Given the description of an element on the screen output the (x, y) to click on. 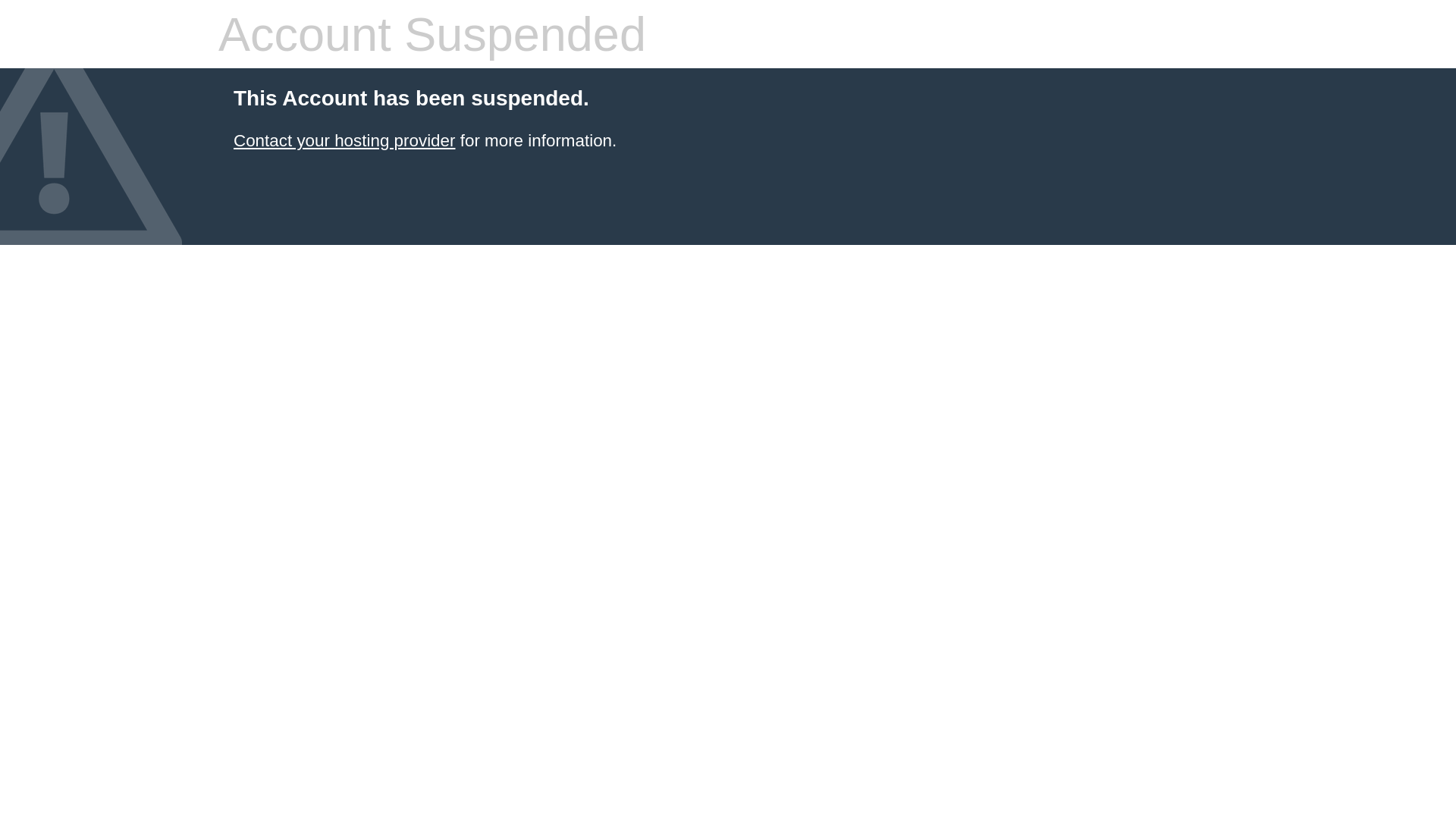
Contact your hosting provider Element type: text (344, 140)
